Given the description of an element on the screen output the (x, y) to click on. 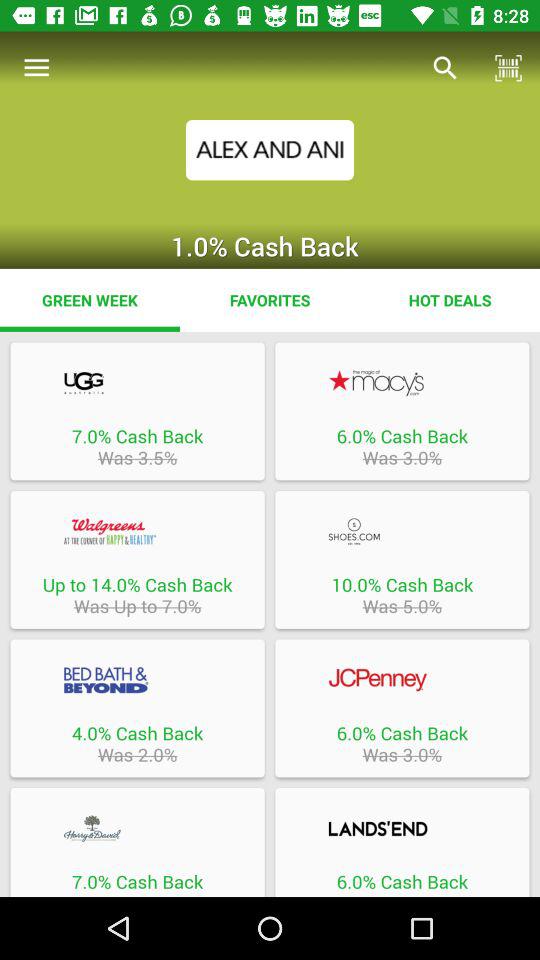
press the item to the left of hot deals (270, 299)
